Given the description of an element on the screen output the (x, y) to click on. 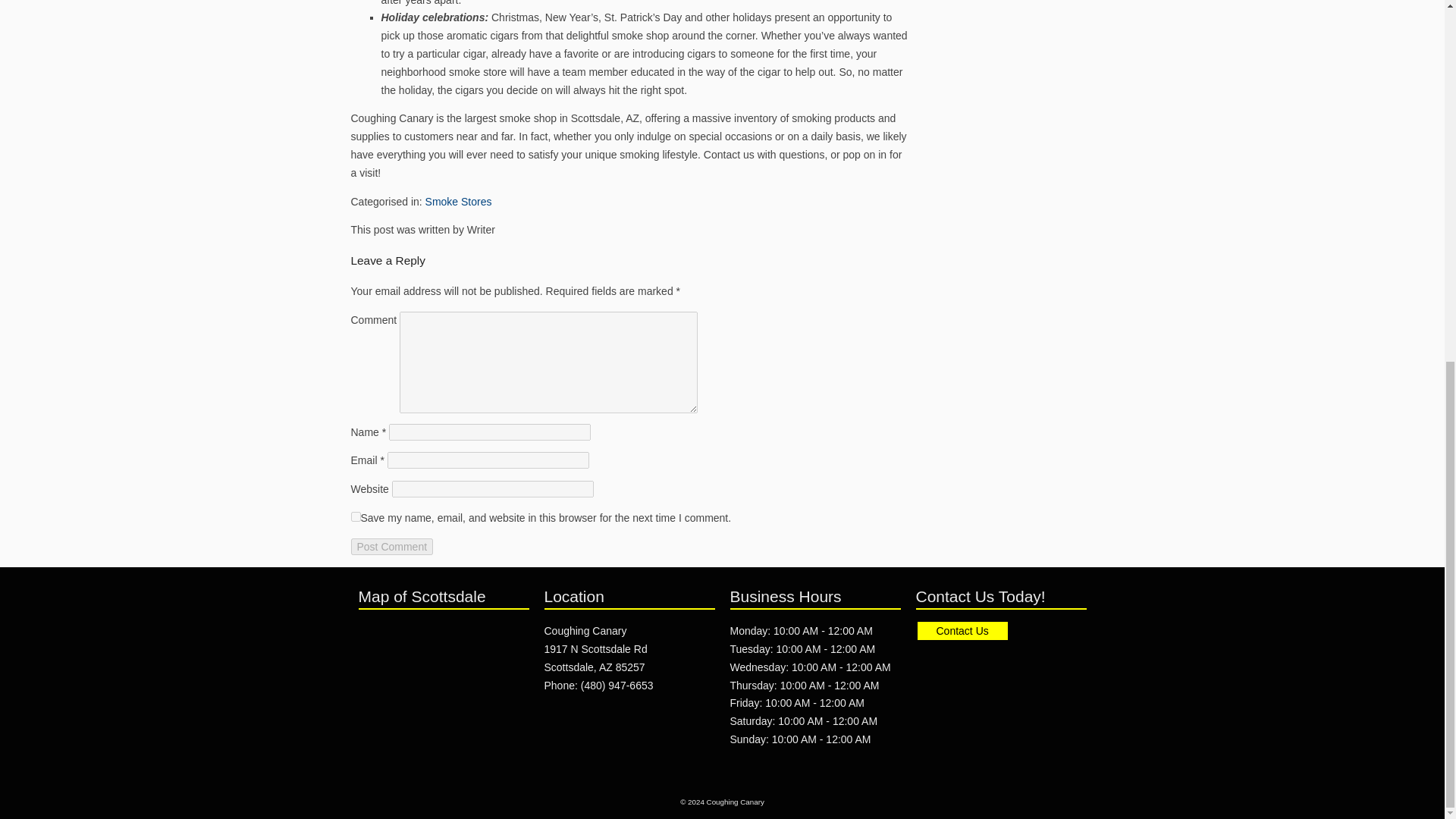
Contact Us (962, 630)
Smoke Stores (458, 201)
Coughing Canary in Scottsdale, AZ (595, 657)
Post Comment (443, 783)
yes (391, 546)
Post Comment (354, 516)
